Given the description of an element on the screen output the (x, y) to click on. 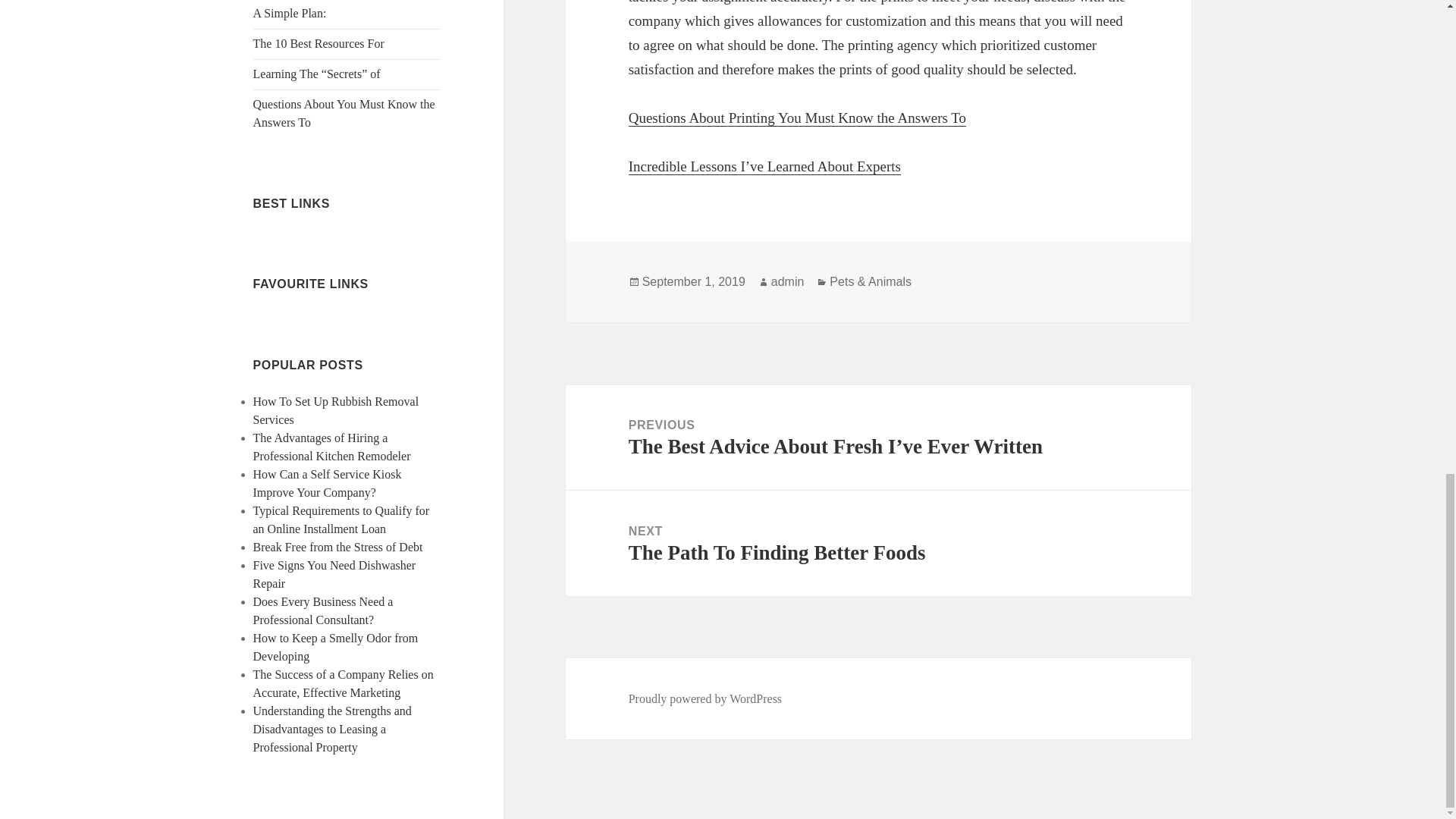
How to Keep a Smelly Odor from Developing (336, 646)
Five Signs You Need Dishwasher Repair (334, 573)
How Can a Self Service Kiosk Improve Your Company? (327, 482)
The 10 Best Resources For (318, 42)
Does Every Business Need a Professional Consultant? (323, 610)
Five Signs You Need Dishwasher Repair (334, 573)
How To Set Up Rubbish Removal Services (336, 409)
Does Every Business Need a Professional Consultant? (323, 610)
Break Free from the Stress of Debt (338, 546)
Questions About You Must Know the Answers To (344, 112)
The Advantages of Hiring a Professional Kitchen Remodeler (331, 446)
How To Set Up Rubbish Removal Services (336, 409)
